Given the description of an element on the screen output the (x, y) to click on. 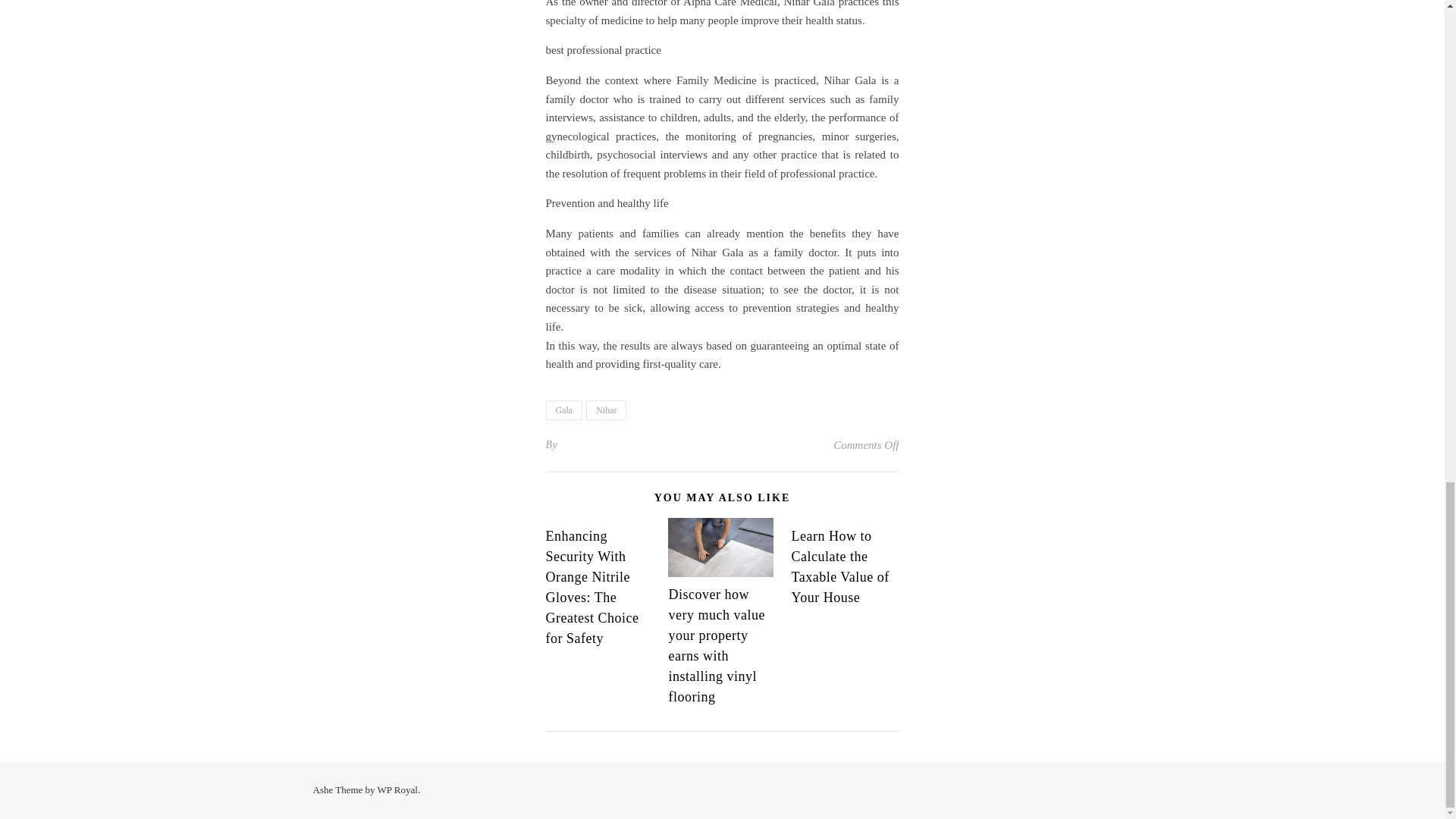
Gala (564, 410)
Nihar (606, 410)
WP Royal (397, 789)
Learn How to Calculate the Taxable Value of Your House (839, 566)
